Given the description of an element on the screen output the (x, y) to click on. 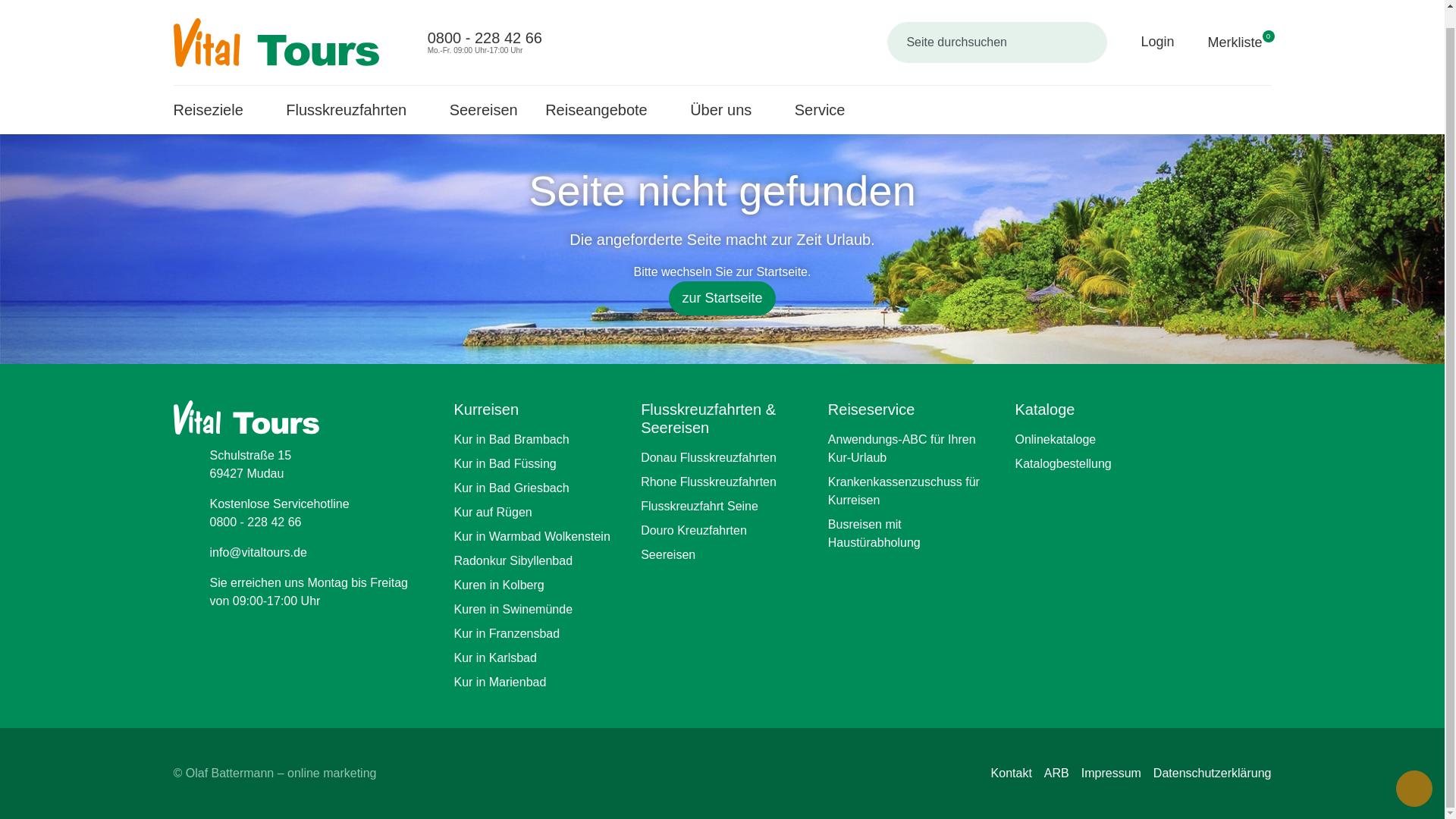
Login (1146, 23)
Seereisen (472, 24)
Flusskreuzfahrten (483, 92)
Flusskreuzfahrten (1228, 24)
Reiseziele (353, 92)
Reiseangebote (353, 92)
Reiseziele (215, 92)
